Given the description of an element on the screen output the (x, y) to click on. 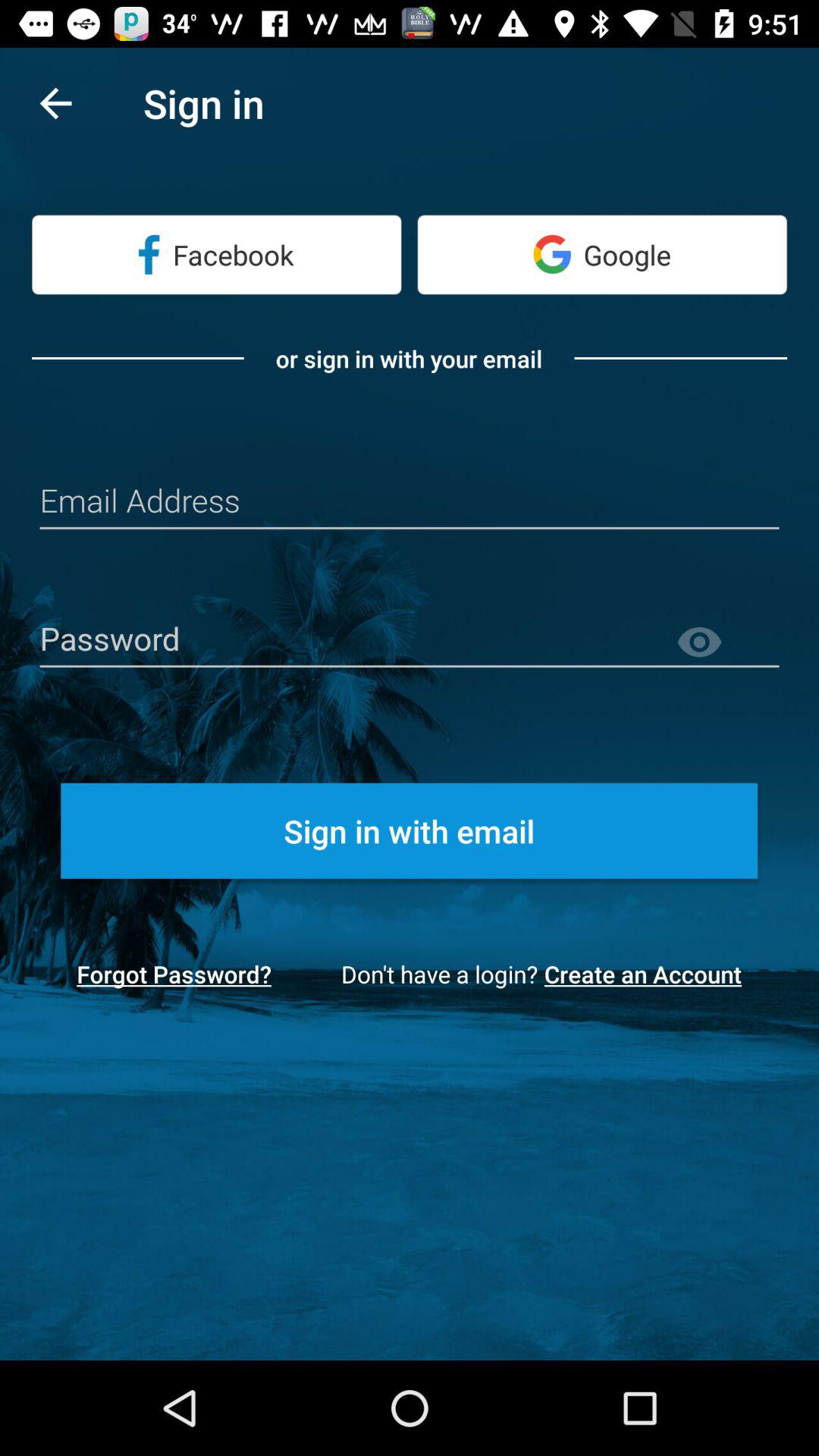
choose the create an account (647, 974)
